Given the description of an element on the screen output the (x, y) to click on. 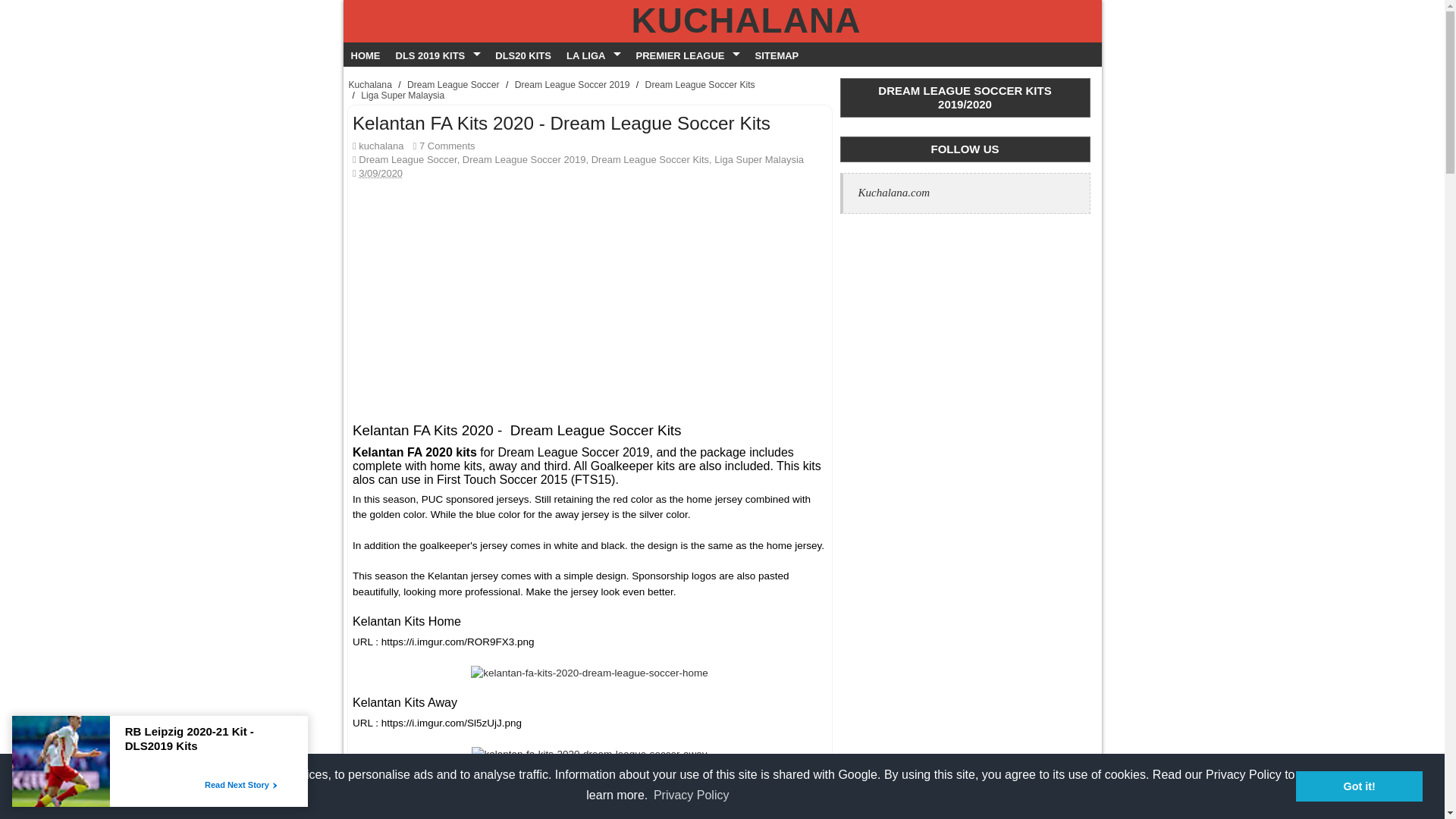
Got it! (1358, 786)
Liga Super Malaysia (758, 159)
PREMIER LEAGUE (686, 53)
Dream League Soccer (453, 84)
7 Comments (447, 145)
LA LIGA (593, 53)
SITEMAP (776, 53)
Privacy Policy (691, 794)
Dream League Soccer Kits (650, 159)
HOME (364, 53)
DLS20 Kits (523, 53)
Dream League Soccer 2019 (572, 84)
Dream League Soccer (407, 159)
DLS 2019 KITS (437, 53)
Dream League Soccer Kits (700, 84)
